Given the description of an element on the screen output the (x, y) to click on. 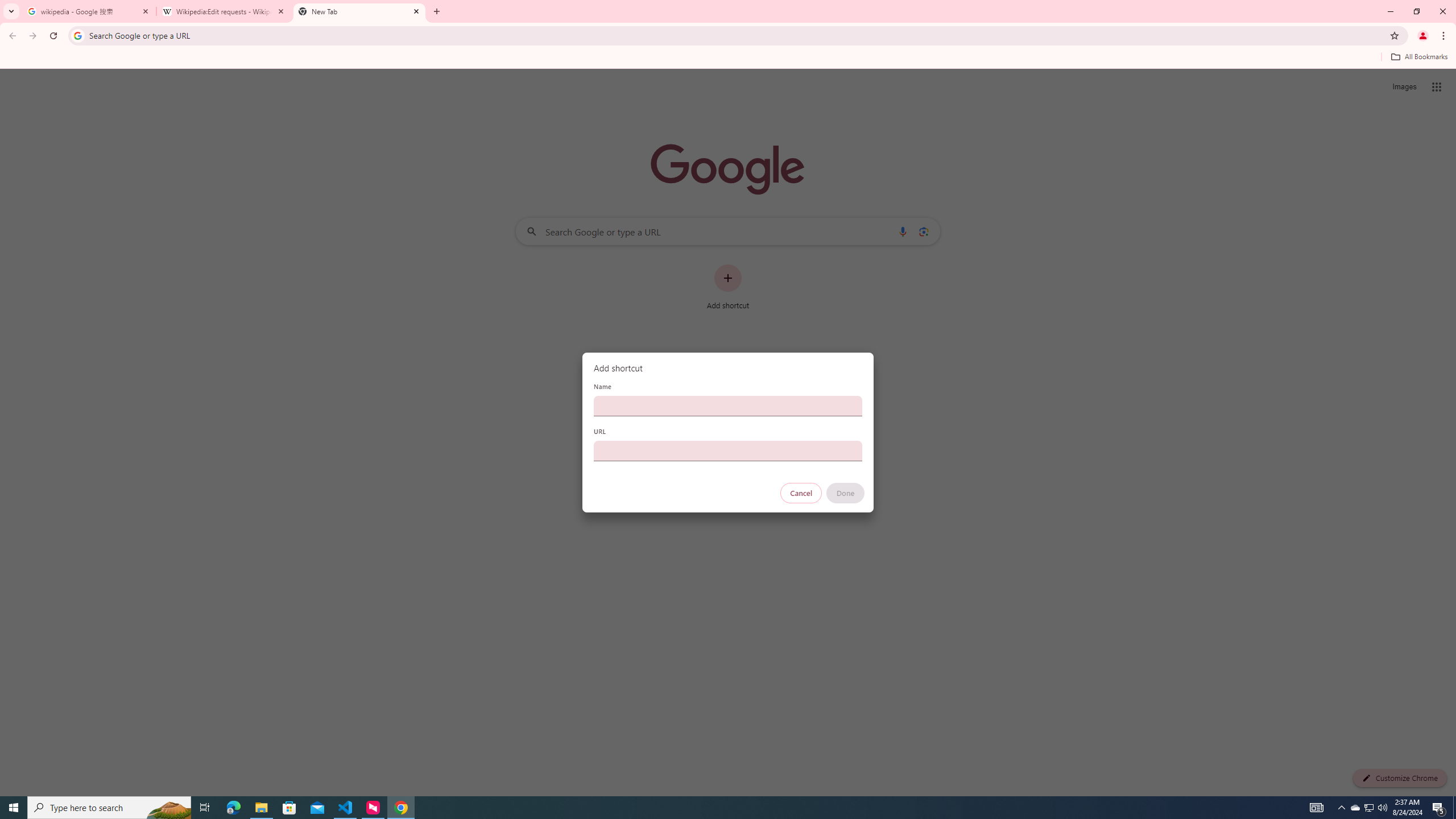
Reload (52, 35)
Address and search bar (735, 35)
Bookmarks (728, 58)
Minimize (1390, 11)
System (6, 6)
Close (415, 11)
All Bookmarks (1418, 56)
Wikipedia:Edit requests - Wikipedia (224, 11)
You (1422, 35)
